Given the description of an element on the screen output the (x, y) to click on. 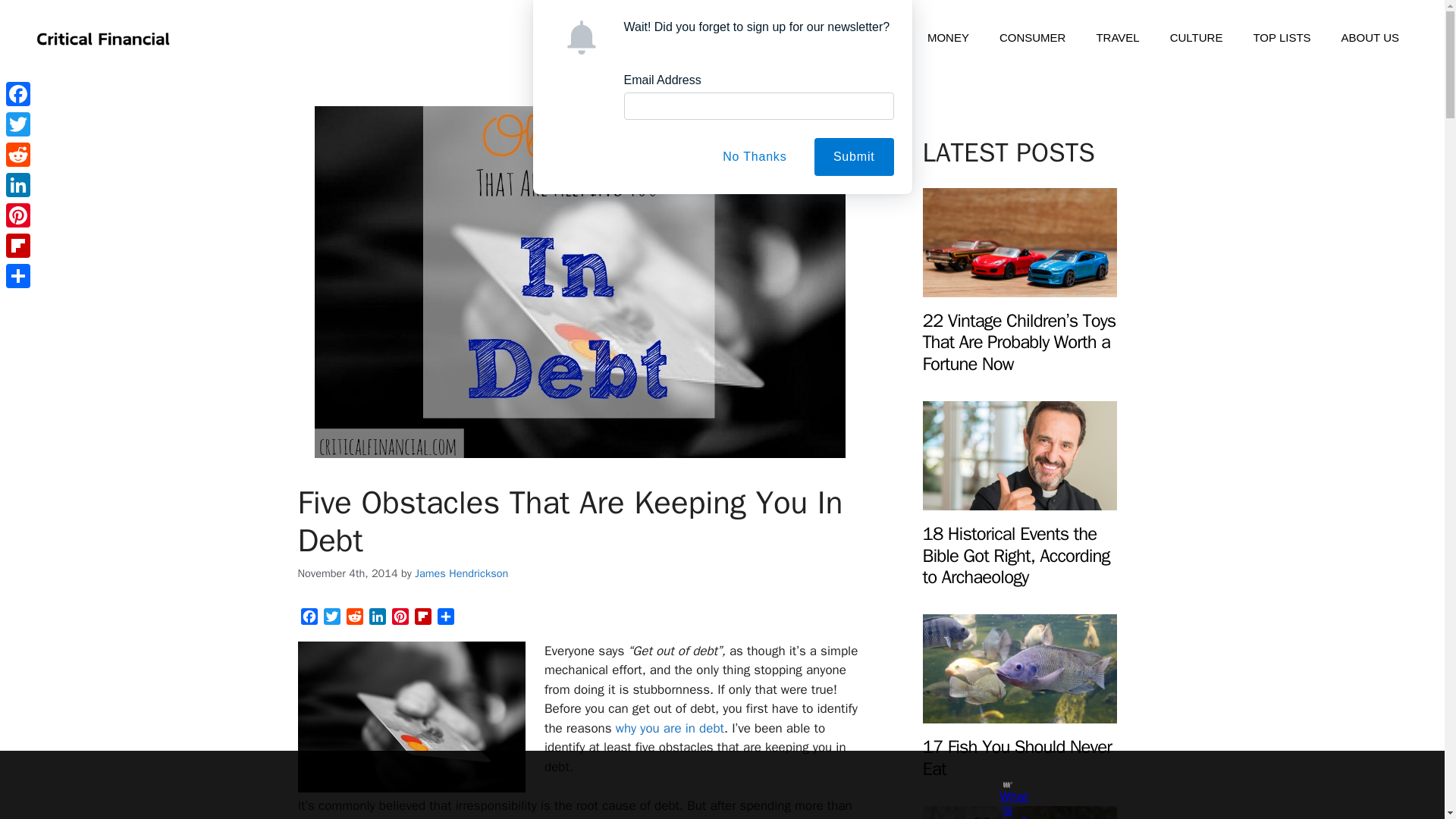
Flipboard (421, 618)
Best Ever Advice on Dealing with Credit Cards (669, 728)
CAREER (819, 37)
CONSUMER (1032, 37)
Twitter (331, 618)
View all posts by James Hendrickson (461, 572)
LinkedIn (376, 618)
why you are in debt (669, 728)
Flipboard (421, 618)
Share (445, 618)
17 Fish You Should Never Eat (1015, 757)
Facebook (308, 618)
ABOUT US (1369, 37)
Twitter (17, 123)
